Given the description of an element on the screen output the (x, y) to click on. 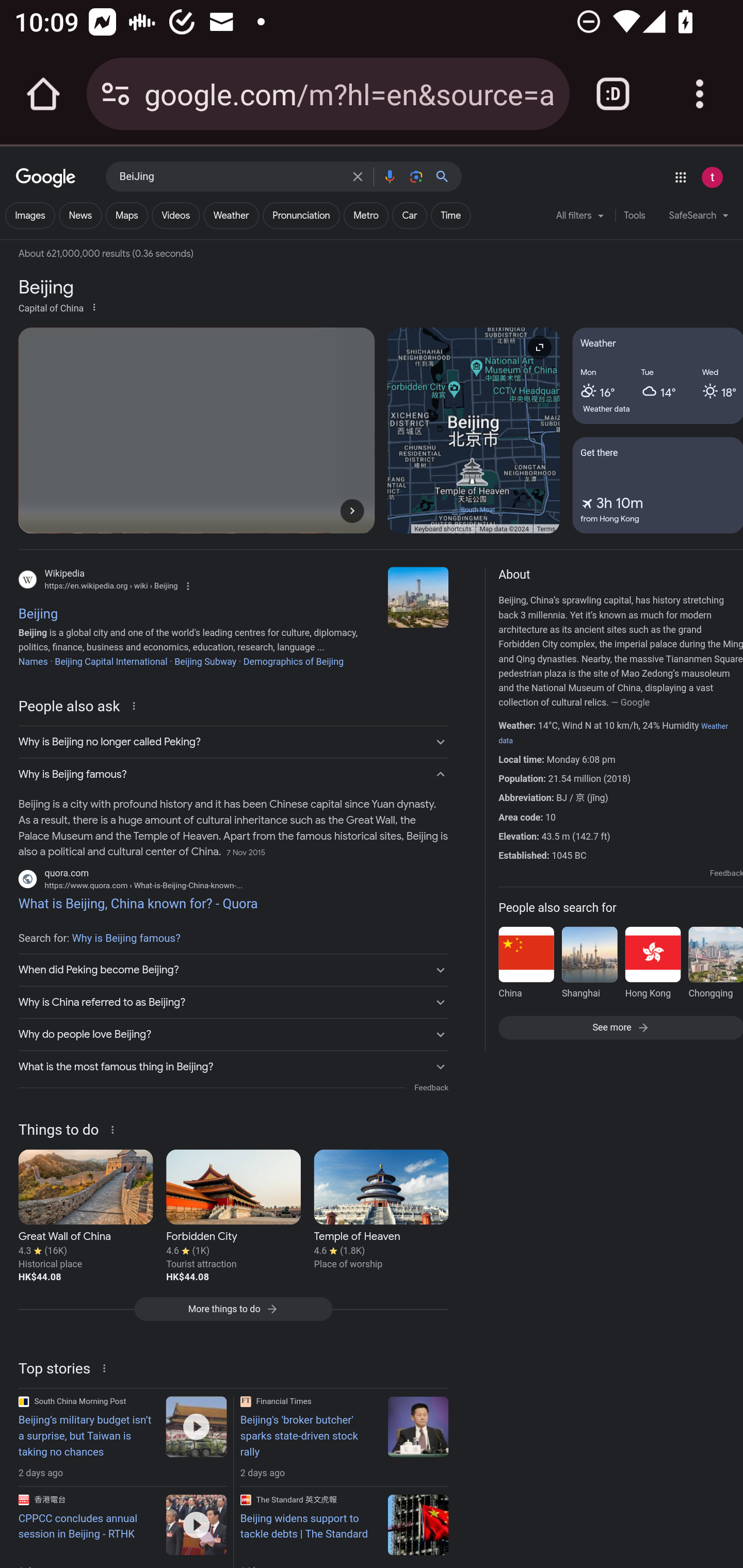
Open the home page (43, 93)
Connection is secure (115, 93)
Switch or close tabs (612, 93)
Customize and control Google Chrome (699, 93)
Clear (357, 176)
Search by voice (389, 176)
Search by image (415, 176)
Search (446, 176)
Google apps (680, 176)
Google (45, 178)
BeiJing (229, 177)
Images (29, 215)
News (79, 215)
Maps (126, 215)
Videos (175, 215)
Add Weather Weather (230, 215)
Add Pronunciation Pronunciation (301, 215)
Add Metro Metro (366, 215)
Add Car Car (409, 215)
Add Time Time (450, 215)
All filters (580, 218)
Tools (634, 215)
SafeSearch (698, 217)
More options (93, 306)
Expand map (539, 346)
Weather data (606, 407)
Next image (352, 510)
Beijing (417, 597)
Names (32, 661)
Beijing Capital International (110, 661)
Beijing Subway (204, 661)
Demographics of Beijing (293, 661)
About this result (136, 704)
Weather data (612, 732)
Why is Beijing no longer called Peking? (232, 741)
Why is Beijing famous? (232, 774)
Feedback (726, 873)
China (526, 965)
Shanghai (588, 965)
Hong Kong (652, 965)
Chongqing (715, 965)
Why is Beijing famous? (125, 937)
When did Peking become Beijing? (232, 969)
Why is China referred to as Beijing? (232, 1002)
See more See more See more (620, 1026)
Why do people love Beijing? (232, 1033)
What is the most famous thing in Beijing? (232, 1065)
Feedback (430, 1086)
About this result (115, 1128)
More things to do (232, 1313)
About this result (106, 1367)
